Given the description of an element on the screen output the (x, y) to click on. 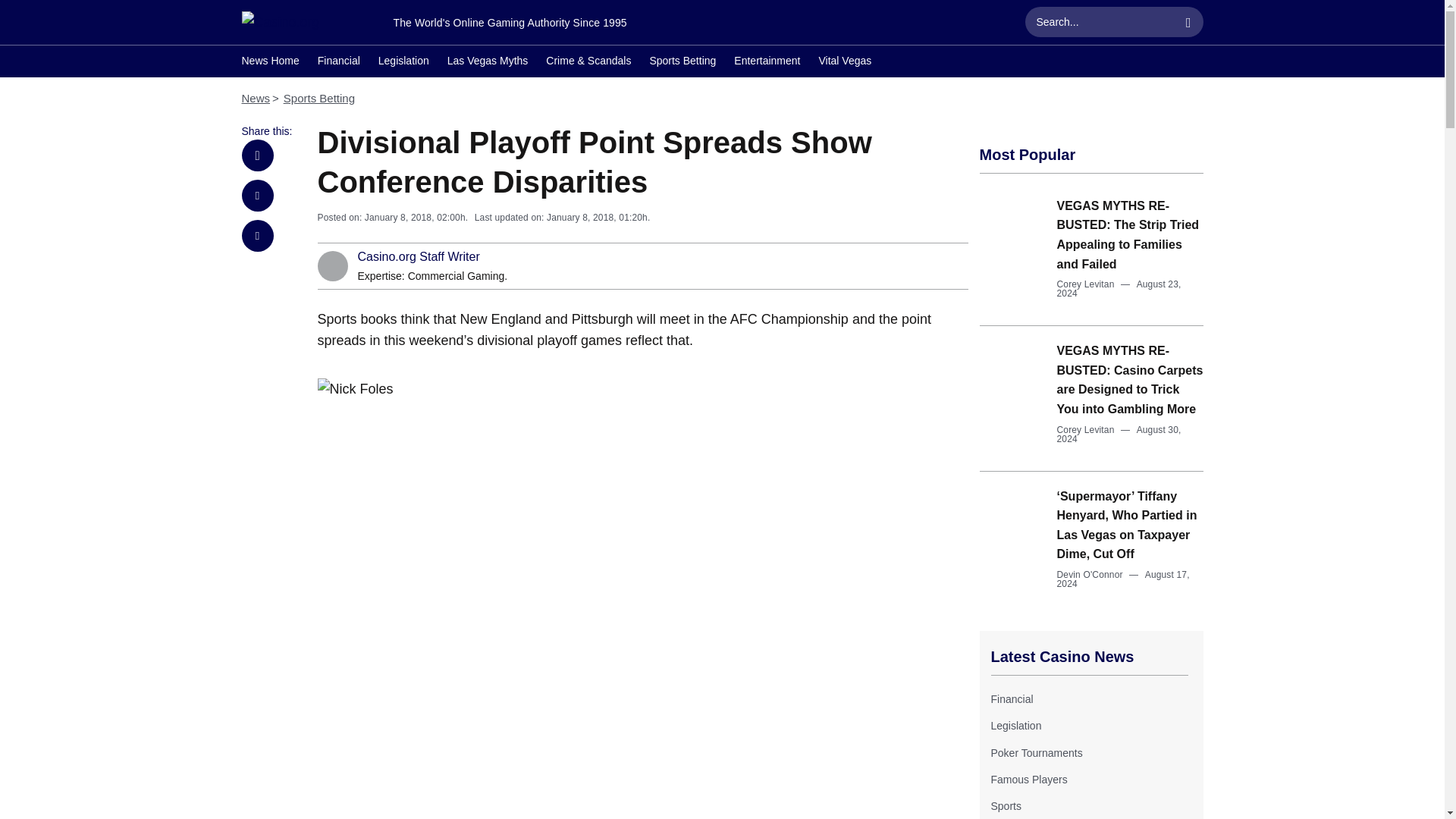
Poker Tournaments (1035, 752)
Devin O'Connor (1089, 574)
Corey Levitan (1086, 284)
Financial (1011, 698)
News Home (269, 61)
News (255, 97)
Commercial Gaming (456, 275)
Entertainment (766, 61)
Financial (1011, 698)
